Given the description of an element on the screen output the (x, y) to click on. 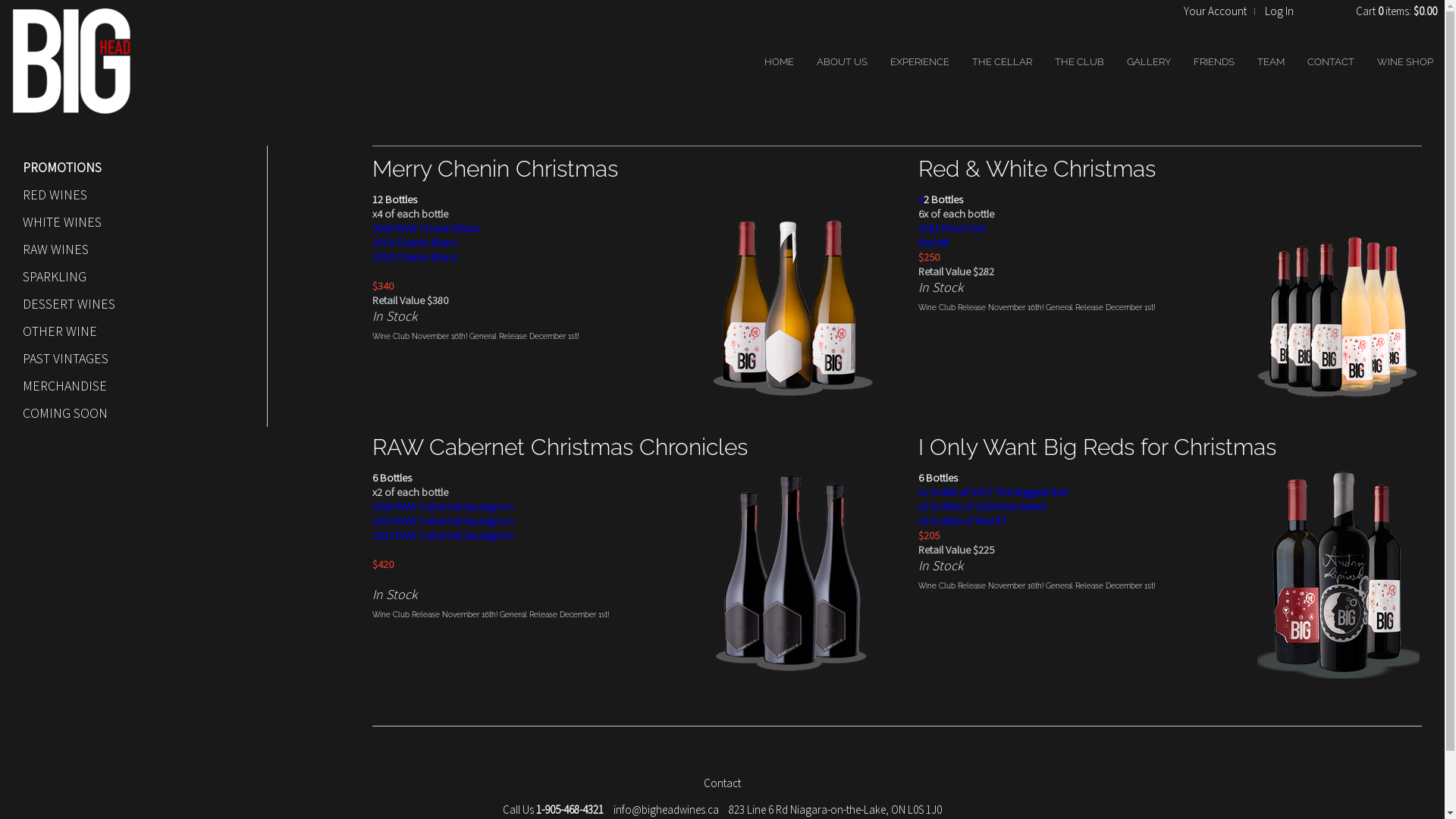
MERCHANDISE Element type: text (130, 385)
Your Account Element type: text (1214, 10)
2018 RAW Cabernet Sauvignon Element type: text (442, 505)
TEAM Element type: text (1270, 61)
2018 RAW Chenin Blanc Element type: text (426, 227)
WINE SHOP Element type: text (1405, 61)
CONTACT Element type: text (1330, 61)
PROMOTIONS Element type: text (130, 167)
PAST VINTAGES Element type: text (130, 358)
RAW WINES Element type: text (130, 249)
OTHER WINE Element type: text (130, 331)
DESSERT WINES Element type: text (130, 303)
SPARKLING Element type: text (130, 276)
x2 bottles of 2020 Red Select Element type: text (981, 505)
HOME Element type: text (778, 61)
2019 RAW Cabernet Sauvignon Element type: text (442, 520)
ABOUT US Element type: text (841, 61)
EXPERIENCE Element type: text (919, 61)
Cart 0 items: $0.00 Element type: text (1396, 10)
1 Element type: text (920, 198)
THE CELLAR Element type: text (1002, 61)
Contact Element type: text (721, 782)
Log In Element type: text (1278, 10)
x1 bottle of 2017 The Biggest Red Element type: text (992, 491)
I Only Want Big Reds for Christmas Element type: text (1097, 446)
2019 Chenin Blanc Element type: text (414, 242)
2020 Chenin Blanc Element type: text (414, 256)
GALLERY Element type: text (1148, 61)
x3 bottles of Red #7 Element type: text (962, 520)
COMING SOON Element type: text (130, 412)
RED WINES Element type: text (130, 194)
2022 RAW Cabernet Sauvignon Element type: text (442, 534)
THE CLUB Element type: text (1079, 61)
FRIENDS Element type: text (1213, 61)
Red #8 Element type: text (933, 242)
Merry Chenin Christmas Element type: text (495, 168)
Red & White Christmas Element type: text (1036, 168)
RAW Cabernet Christmas Chronicles Element type: text (559, 446)
2021 Pinot Gris Element type: text (951, 227)
WHITE WINES Element type: text (130, 221)
